Given the description of an element on the screen output the (x, y) to click on. 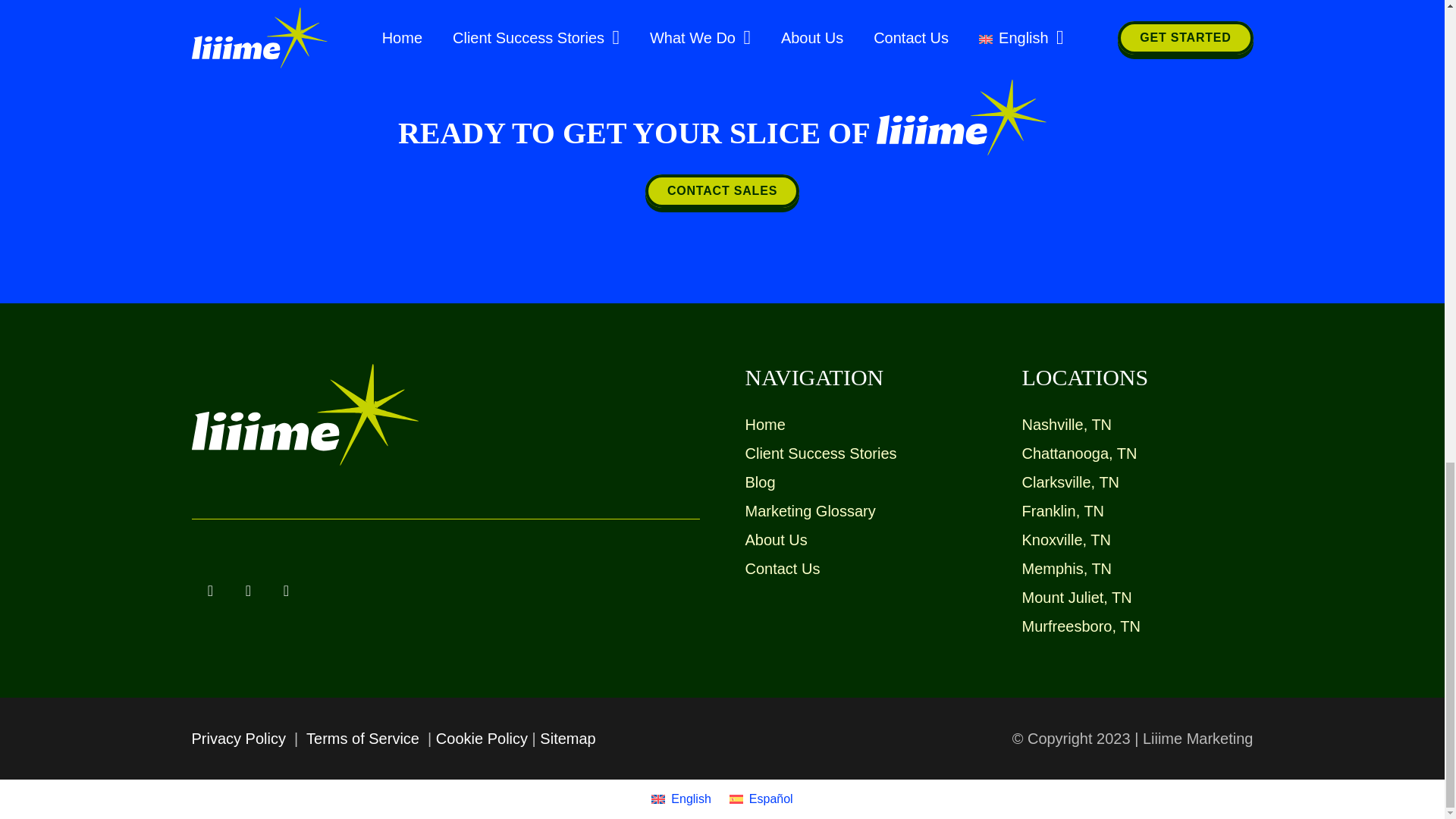
Mount Juliet, TN (1077, 597)
Murfreesboro, TN (1081, 626)
Terms of Service (362, 738)
CONTACT SALES (722, 190)
About Us (775, 539)
Marketing Glossary (809, 510)
Contact Us (781, 568)
Memphis, TN (1067, 568)
Blog (759, 482)
Franklin, TN (1063, 510)
Knoxville, TN (1066, 539)
Nashville, TN (1067, 424)
Clarksville, TN (1070, 482)
Chattanooga, TN (1079, 453)
YouTube (285, 590)
